Given the description of an element on the screen output the (x, y) to click on. 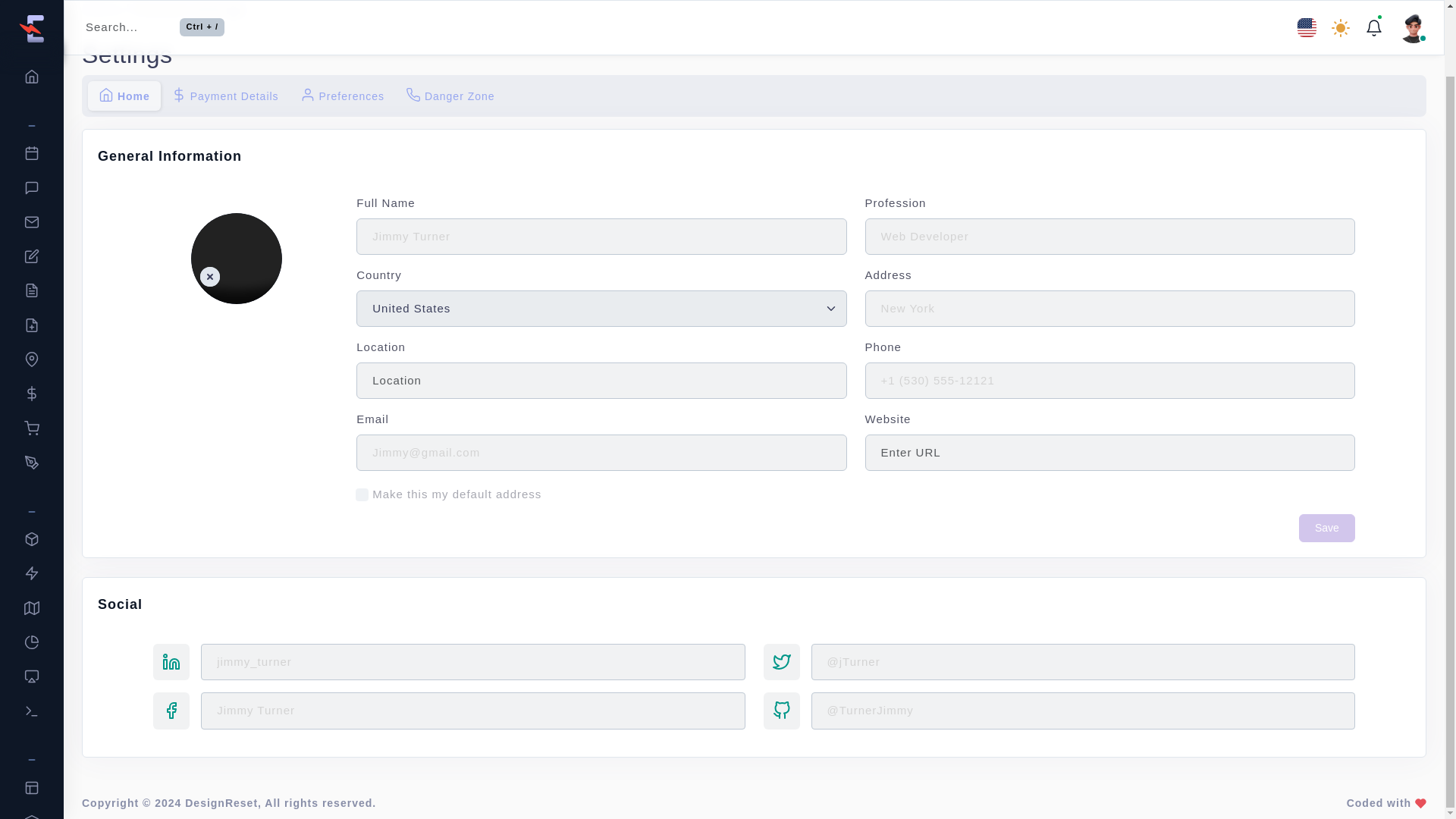
Jimmy Turner (236, 257)
Web Developer (600, 236)
New York (1109, 236)
Jimmy Turner (1109, 308)
